Given the description of an element on the screen output the (x, y) to click on. 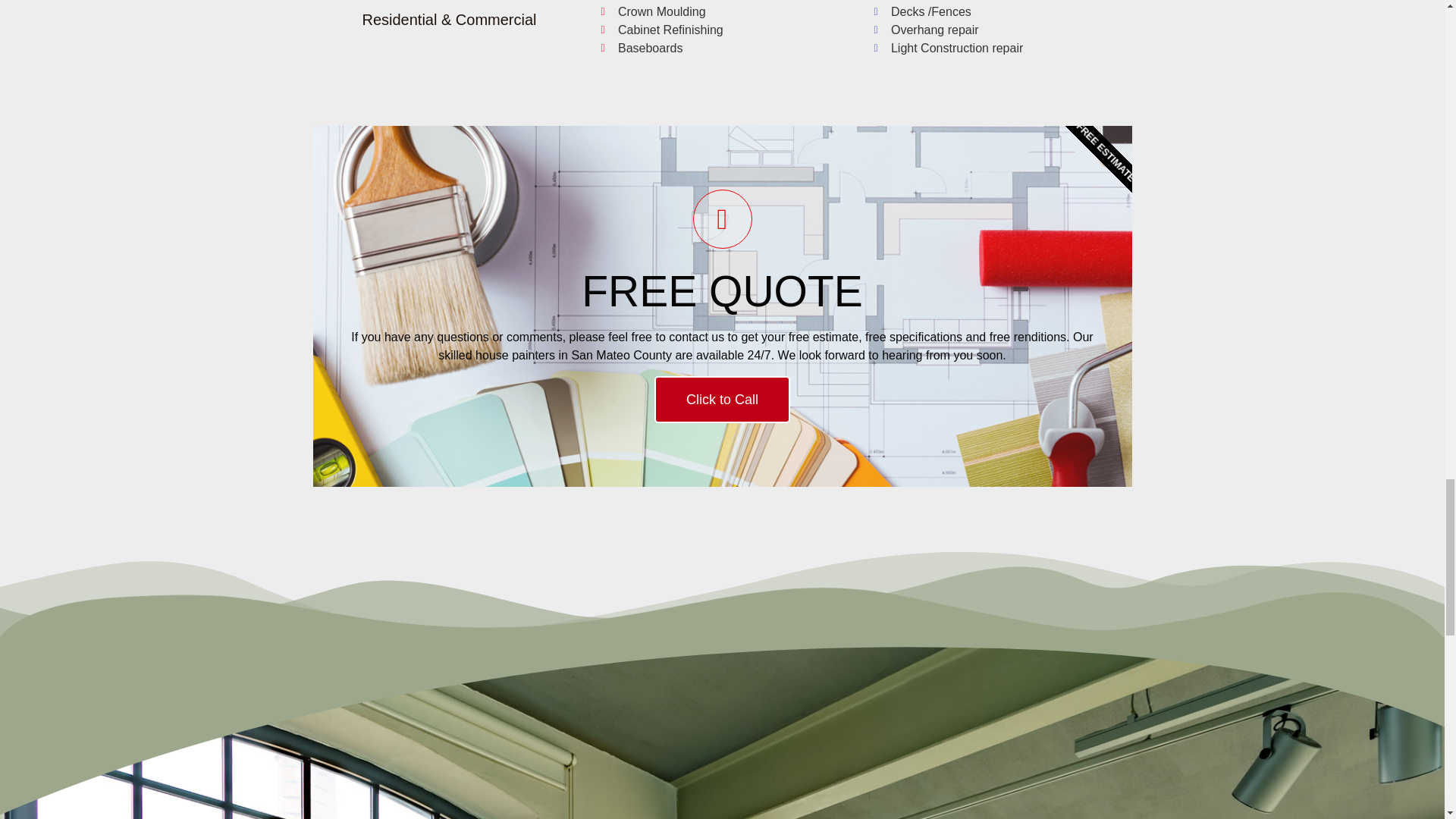
Click to Call (721, 399)
